Given the description of an element on the screen output the (x, y) to click on. 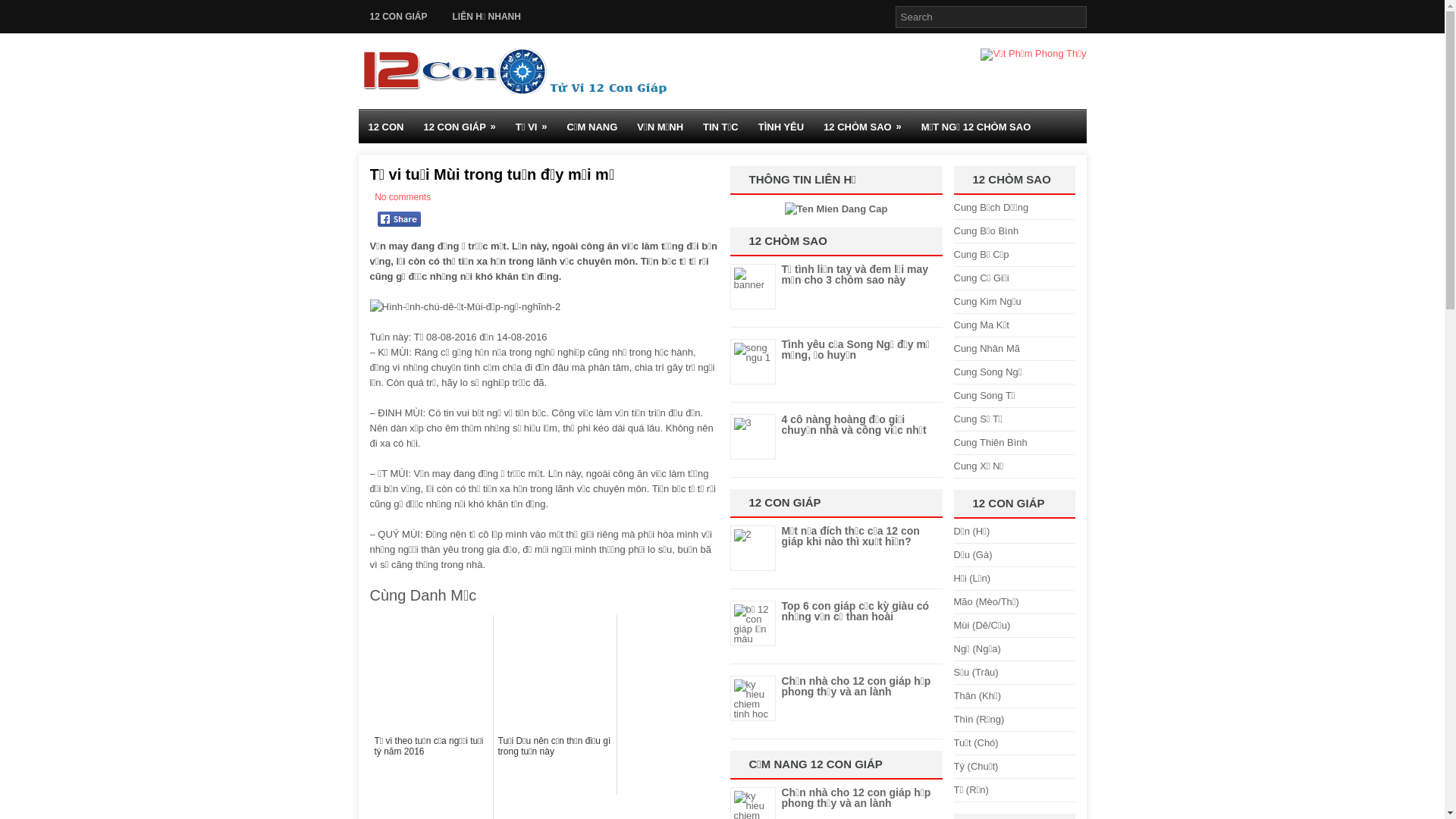
12 CON Element type: text (385, 126)
Type and hit enter Element type: hover (989, 17)
No comments Element type: text (402, 196)
